Given the description of an element on the screen output the (x, y) to click on. 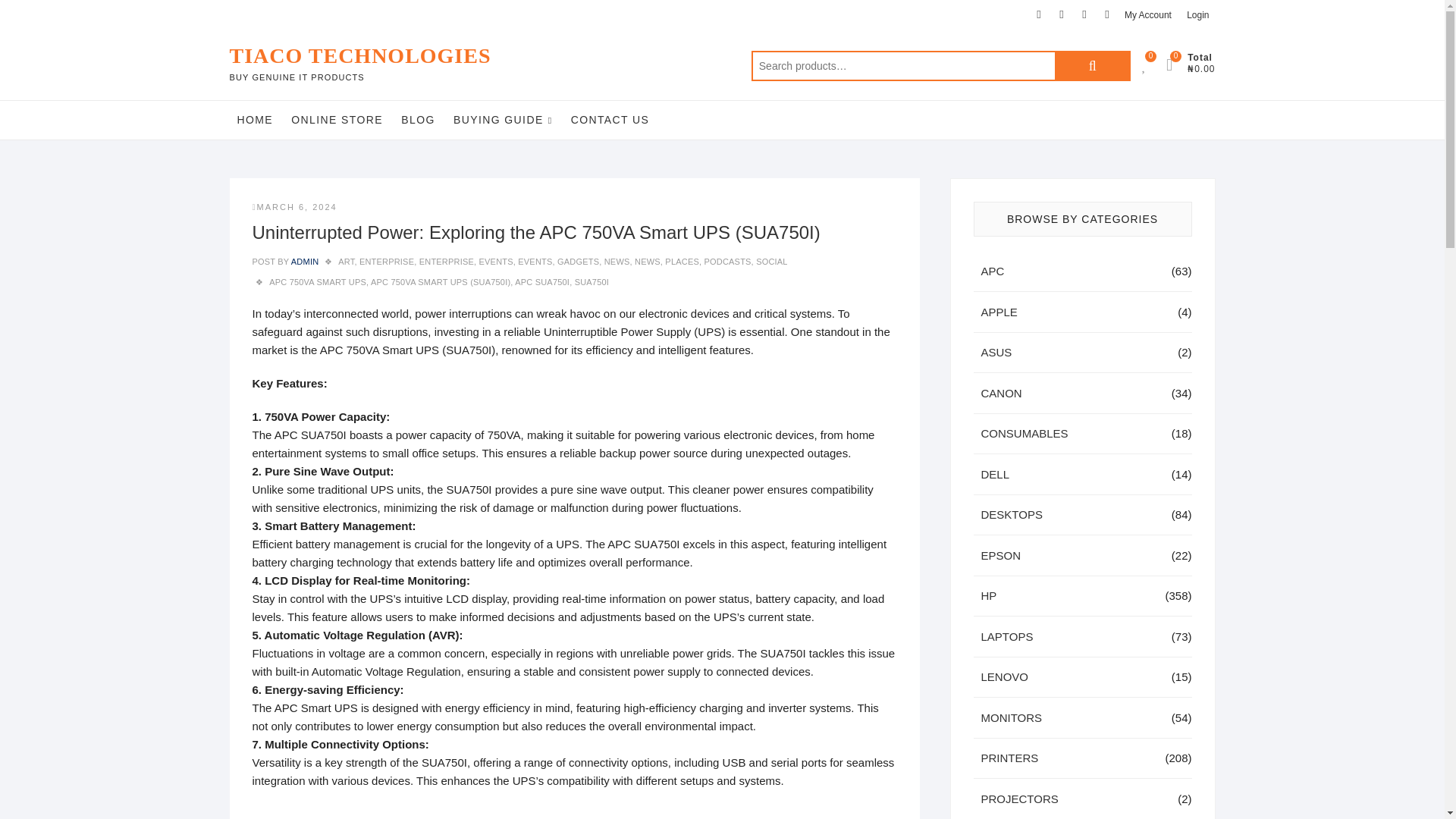
TIACO TECHNOLOGIES (359, 55)
HOME (254, 119)
Login (1197, 15)
ONLINE STORE (336, 119)
linkedin (1107, 14)
Search (1092, 65)
twitter (1061, 14)
7:13 am (293, 206)
TIACO TECHNOLOGIES (359, 55)
